Given the description of an element on the screen output the (x, y) to click on. 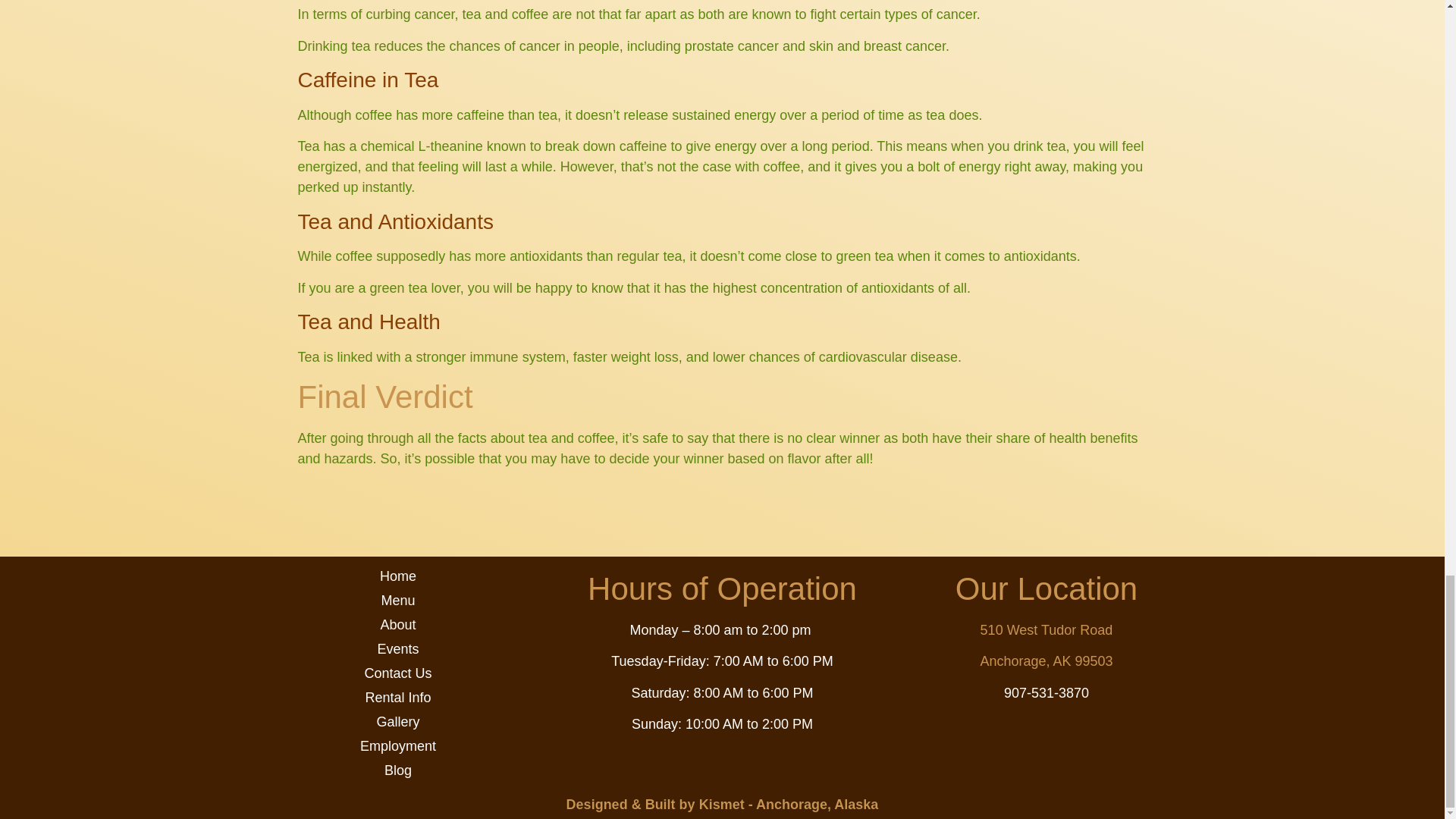
Contact Us (397, 672)
Home (397, 576)
Employment (397, 745)
Events (397, 648)
Rental Info (397, 697)
About (397, 624)
Menu (397, 600)
Gallery (397, 721)
Blog (397, 770)
